Given the description of an element on the screen output the (x, y) to click on. 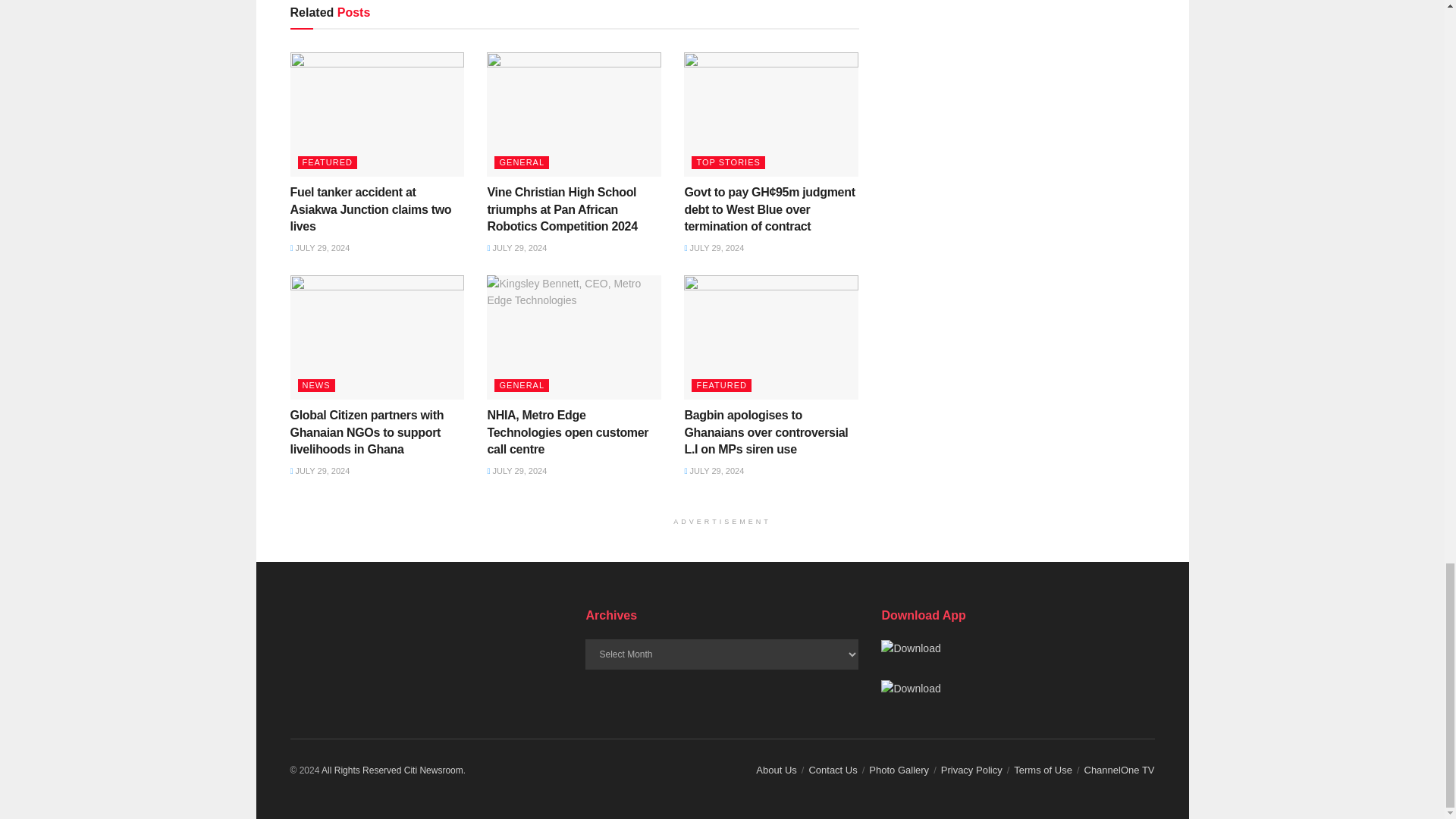
Google Play (910, 647)
Citi Newsroom (433, 769)
Citi Newsroom (361, 769)
App Store (910, 688)
